Given the description of an element on the screen output the (x, y) to click on. 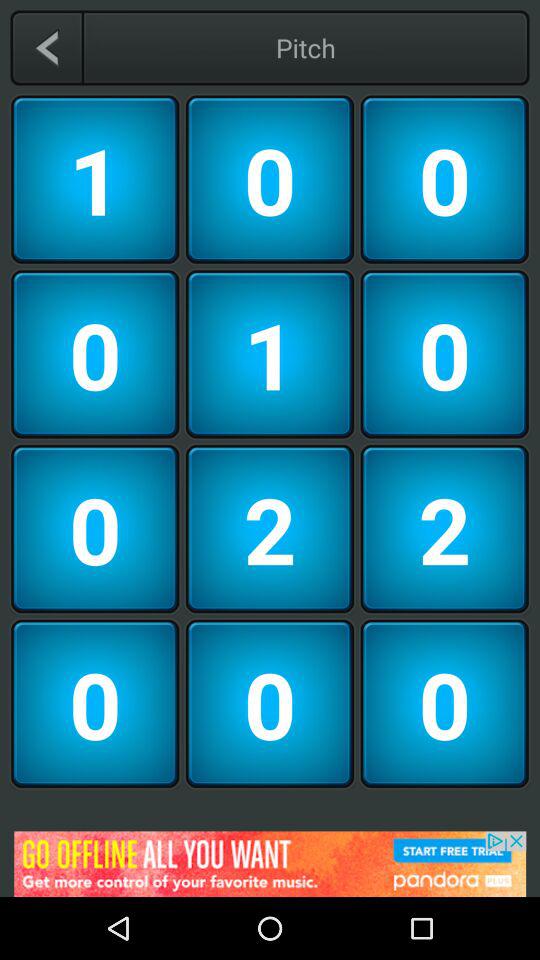
goes to an advertisement (270, 864)
